Given the description of an element on the screen output the (x, y) to click on. 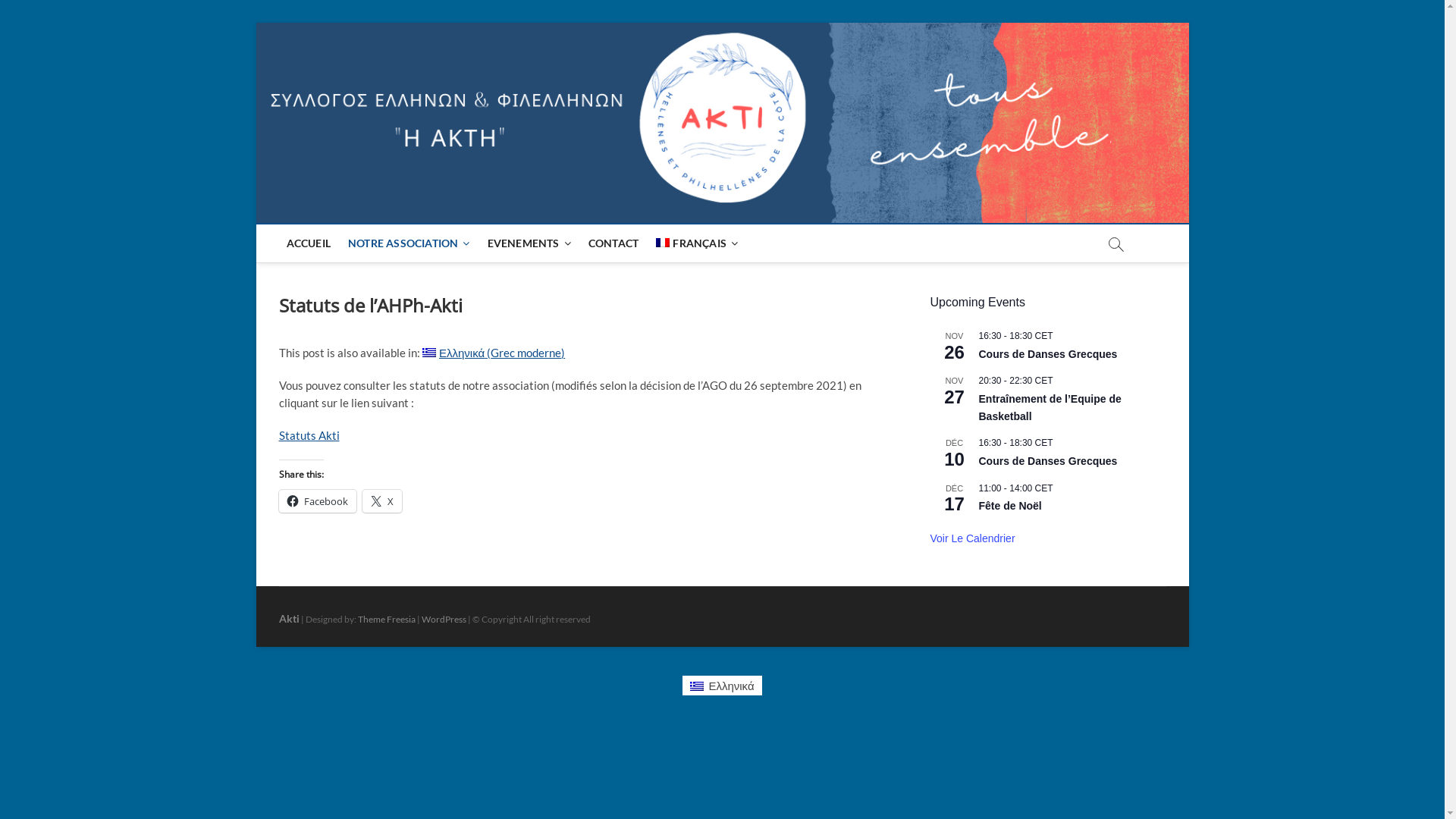
X Element type: text (381, 500)
Statuts Akti Element type: text (309, 435)
CONTACT Element type: text (613, 243)
Cours de Danses Grecques Element type: text (1047, 461)
Skip to content Element type: text (254, 21)
Akti Element type: text (289, 617)
Facebook Element type: text (317, 500)
ACCUEIL Element type: text (308, 243)
Cours de Danses Grecques Element type: text (1047, 354)
Theme Freesia Element type: text (386, 618)
Voir Le Calendrier Element type: text (971, 538)
NOTRE ASSOCIATION Element type: text (408, 243)
EVENEMENTS Element type: text (529, 243)
WordPress Element type: text (443, 618)
